Given the description of an element on the screen output the (x, y) to click on. 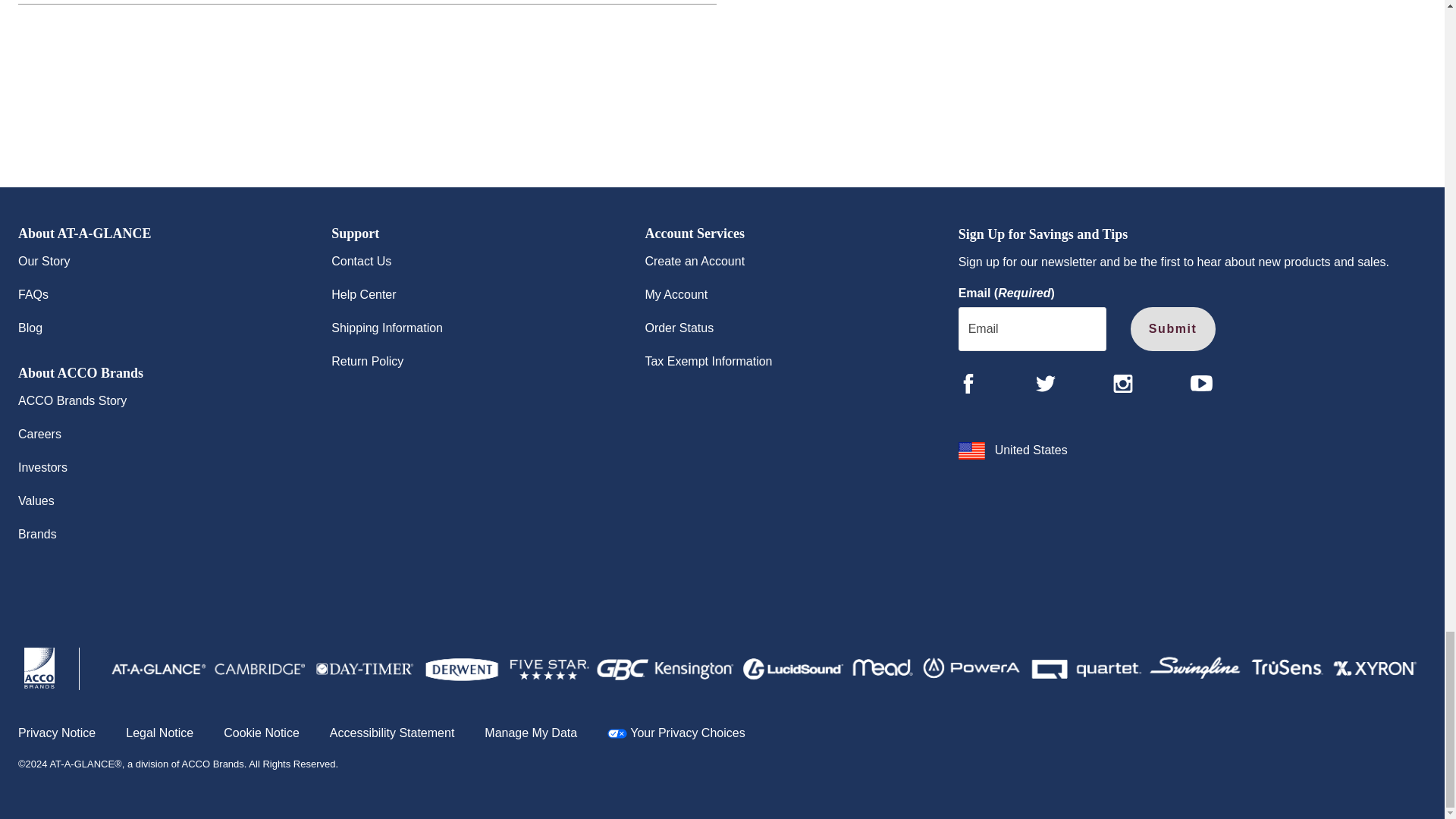
Find us on YouTube (1201, 383)
Like us on Facebook (968, 383)
Connect with us on Twitter (1045, 383)
Follow us on Instagram (1122, 383)
